Given the description of an element on the screen output the (x, y) to click on. 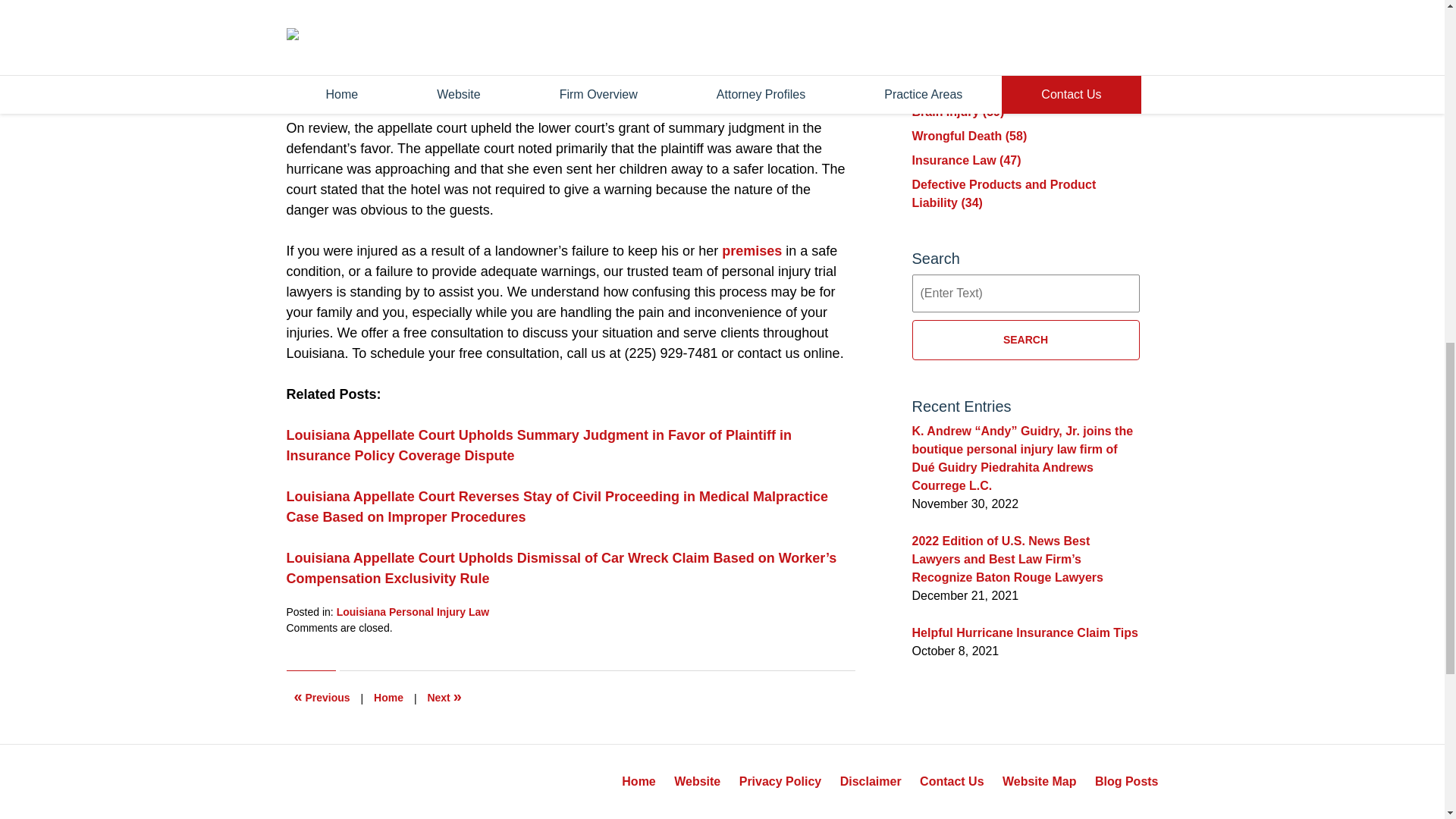
premises (751, 250)
View all posts in Louisiana Personal Injury Law (412, 612)
Louisiana Personal Injury Law (412, 612)
Home (388, 697)
